Given the description of an element on the screen output the (x, y) to click on. 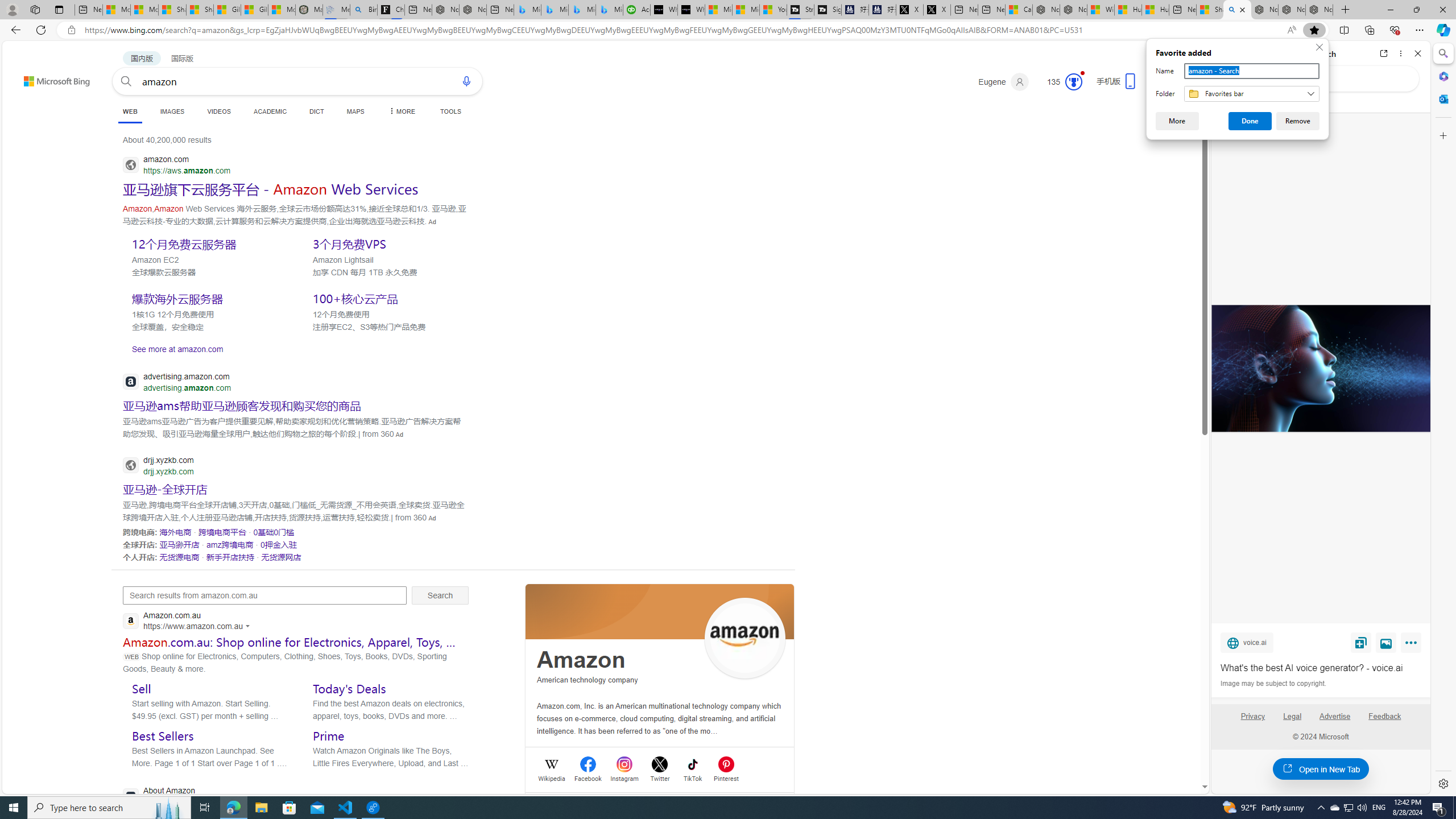
See more images of Amazon (745, 638)
DICT (316, 111)
Start (1333, 807)
Eugene (13, 807)
SERP,5551 (1003, 81)
Side bar (388, 243)
SERP,5571 (1443, 418)
IMAGES (278, 544)
